Given the description of an element on the screen output the (x, y) to click on. 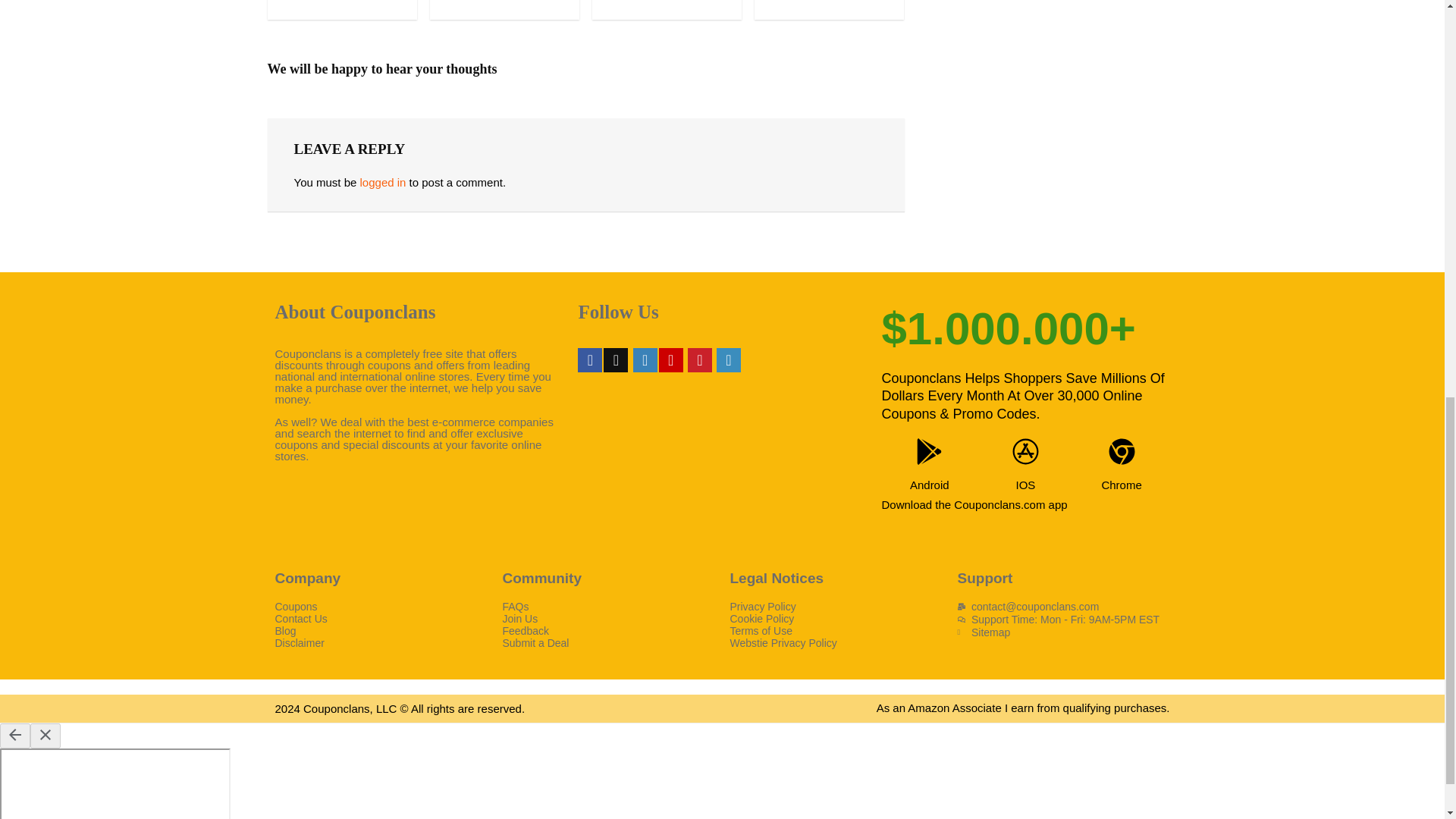
Android (929, 484)
Instagramm (645, 360)
Disclaimer (380, 643)
Contact Us (380, 618)
twitter (615, 360)
FAQs (608, 606)
Pinterest (699, 360)
Coupons (380, 606)
Blog (380, 630)
Facebook (590, 360)
